Given the description of an element on the screen output the (x, y) to click on. 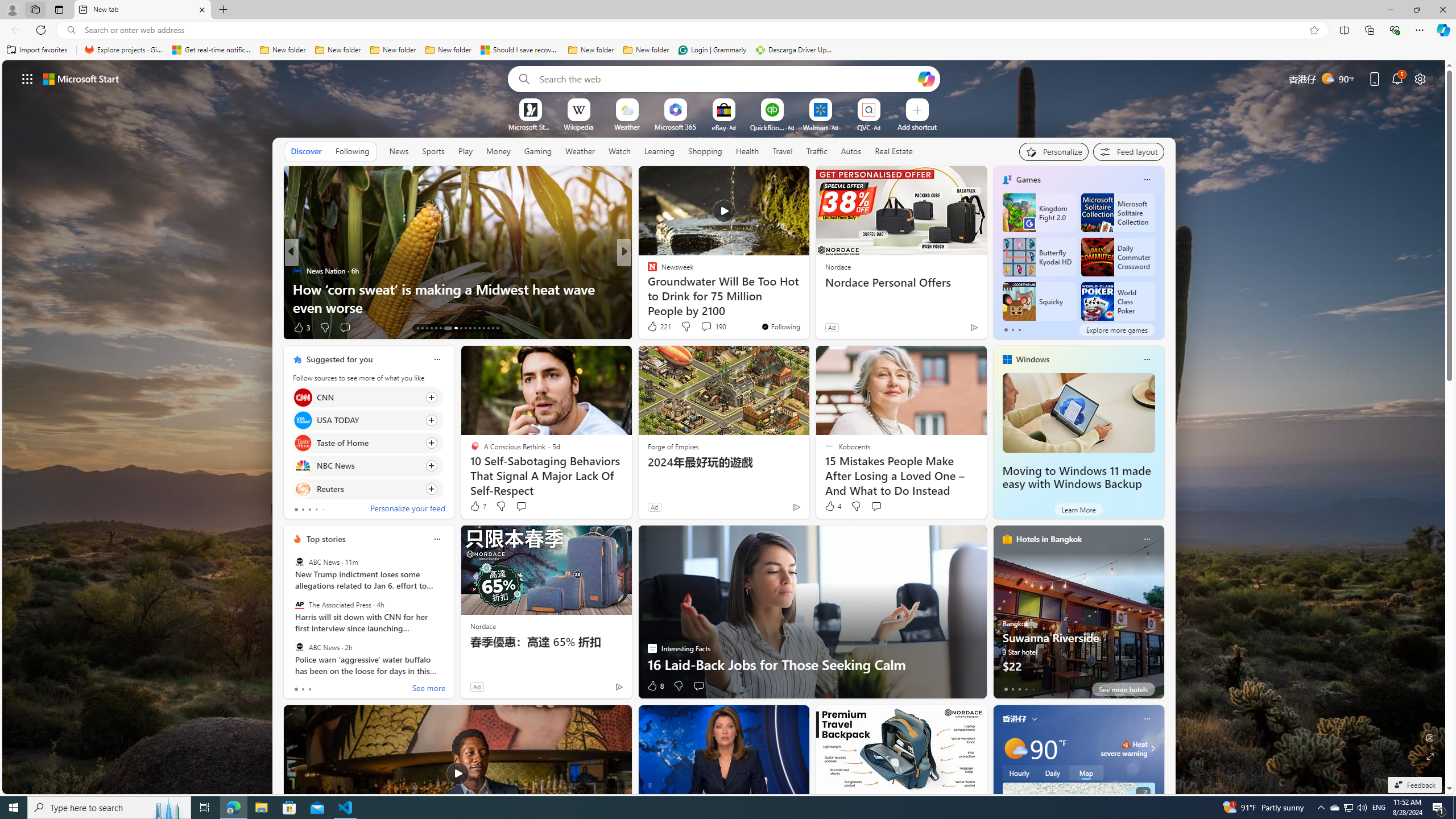
View comments 66 Comment (6, 327)
15 Interview Phrases That Could Cost You the Job (807, 307)
You're following Newsweek (780, 326)
Page settings (1420, 78)
tab-3 (1025, 689)
Collections (1369, 29)
Forbes (647, 270)
Hide this story (597, 719)
Hourly (1018, 772)
Mostly sunny (1014, 748)
View comments 125 Comment (703, 327)
8 Like (655, 685)
Weather (579, 151)
Real Estate (893, 151)
